Given the description of an element on the screen output the (x, y) to click on. 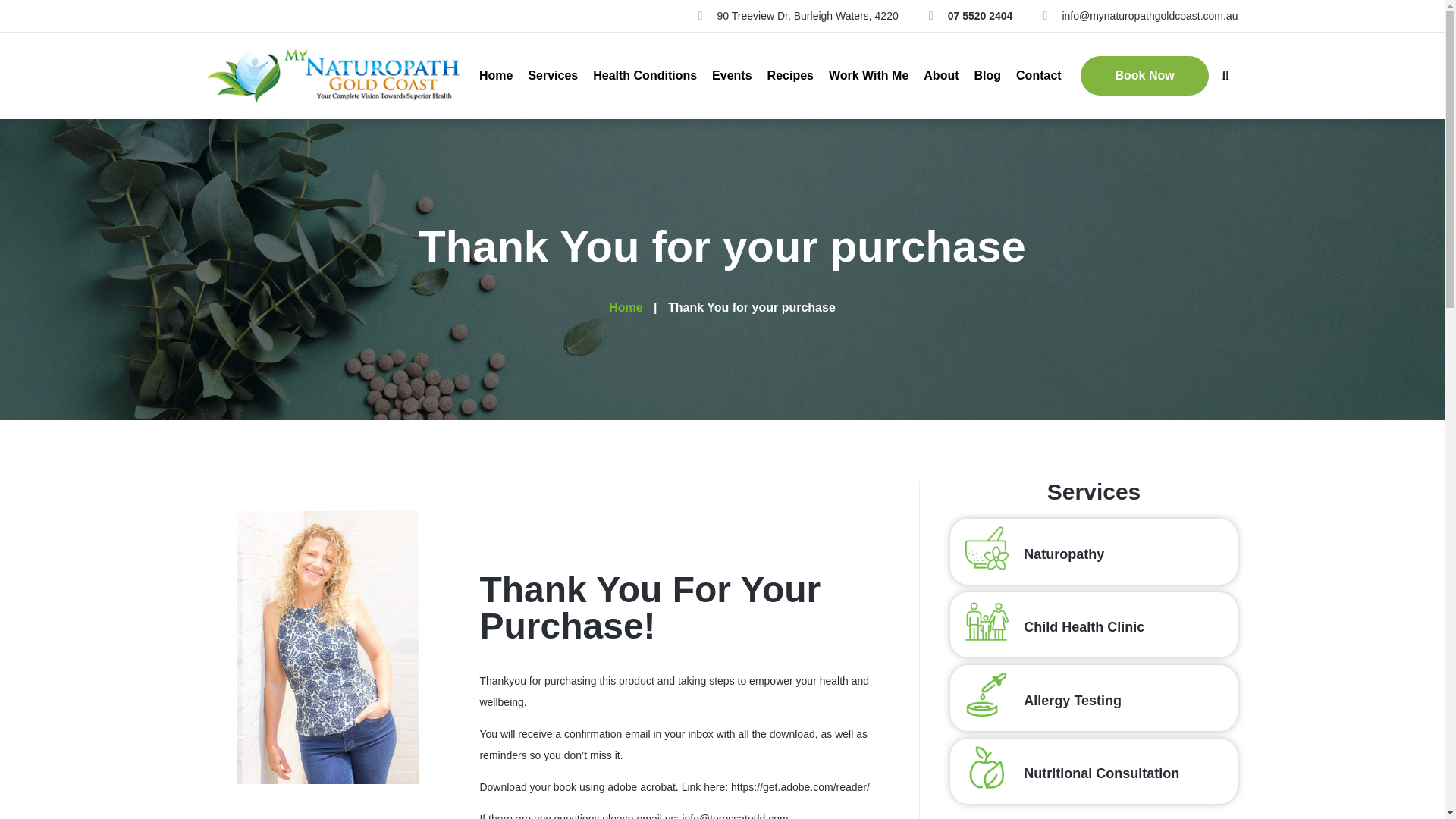
Health Conditions (644, 75)
Blog (987, 75)
Events (731, 75)
07 5520 2404 (970, 15)
About (940, 75)
Home (495, 75)
Work With Me (868, 75)
Contact (1038, 75)
Recipes (790, 75)
Services (552, 75)
